Given the description of an element on the screen output the (x, y) to click on. 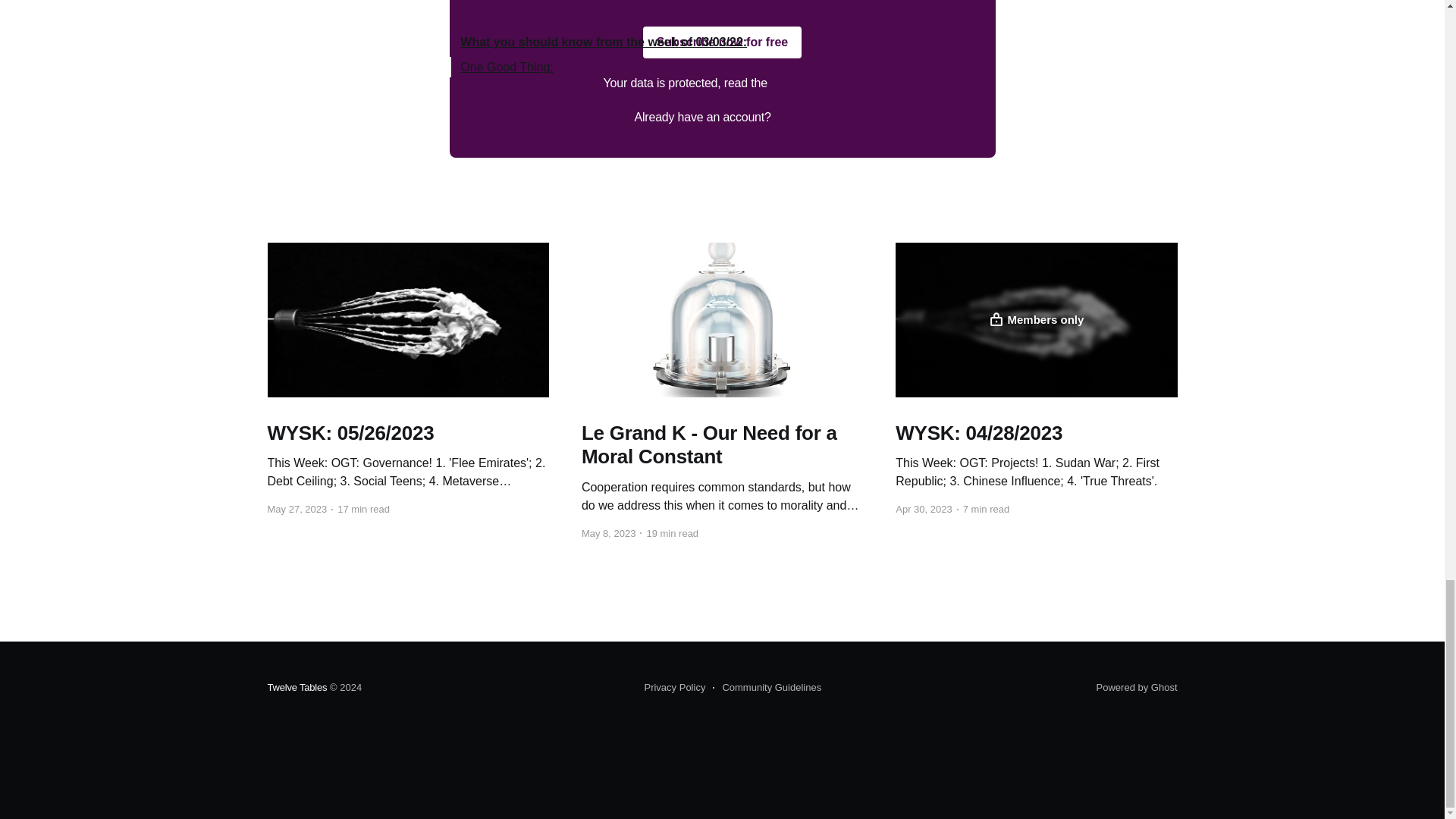
Community Guidelines (767, 687)
Privacy Policy (673, 687)
Powered by Ghost (1136, 686)
Twelve Tables (296, 686)
Sign in (792, 116)
Members only (1035, 319)
privacy policy (805, 82)
Subscribe now for free (722, 42)
